Given the description of an element on the screen output the (x, y) to click on. 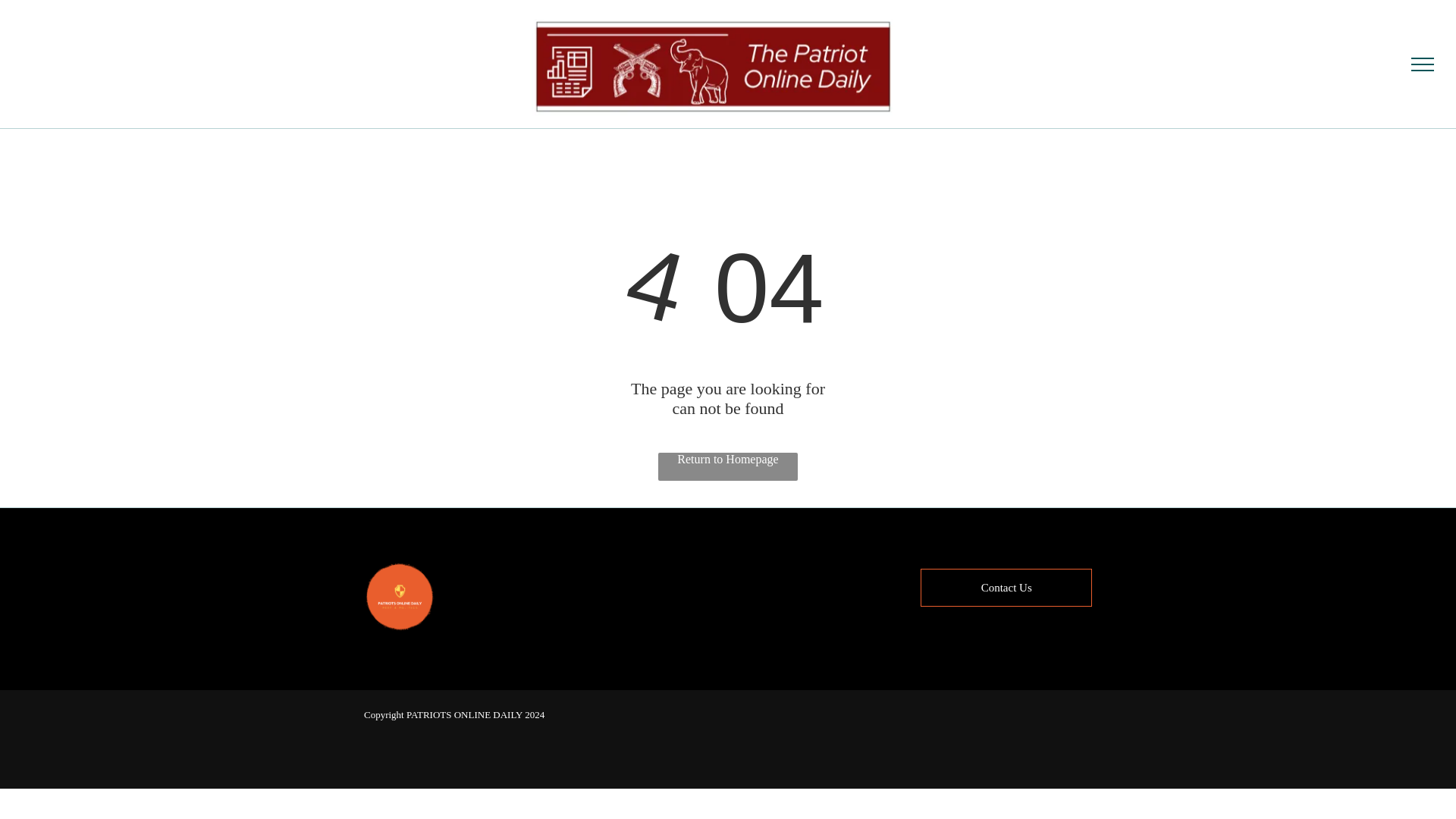
Contact (666, 635)
Home (666, 571)
Return to Homepage (727, 466)
About (666, 592)
Contact Us (1006, 587)
Our Offering (666, 613)
